Given the description of an element on the screen output the (x, y) to click on. 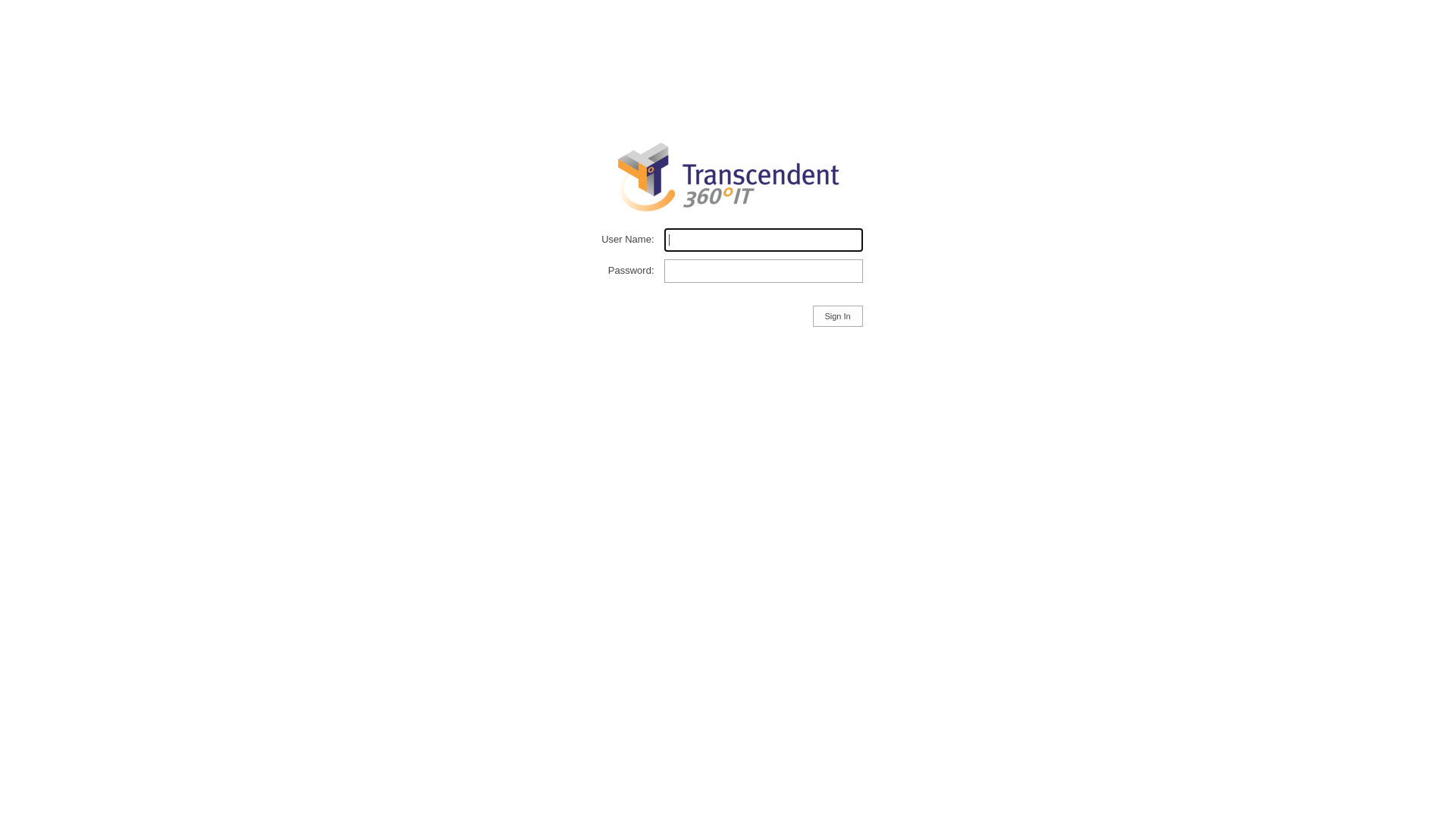
Sign In Element type: text (837, 315)
